Given the description of an element on the screen output the (x, y) to click on. 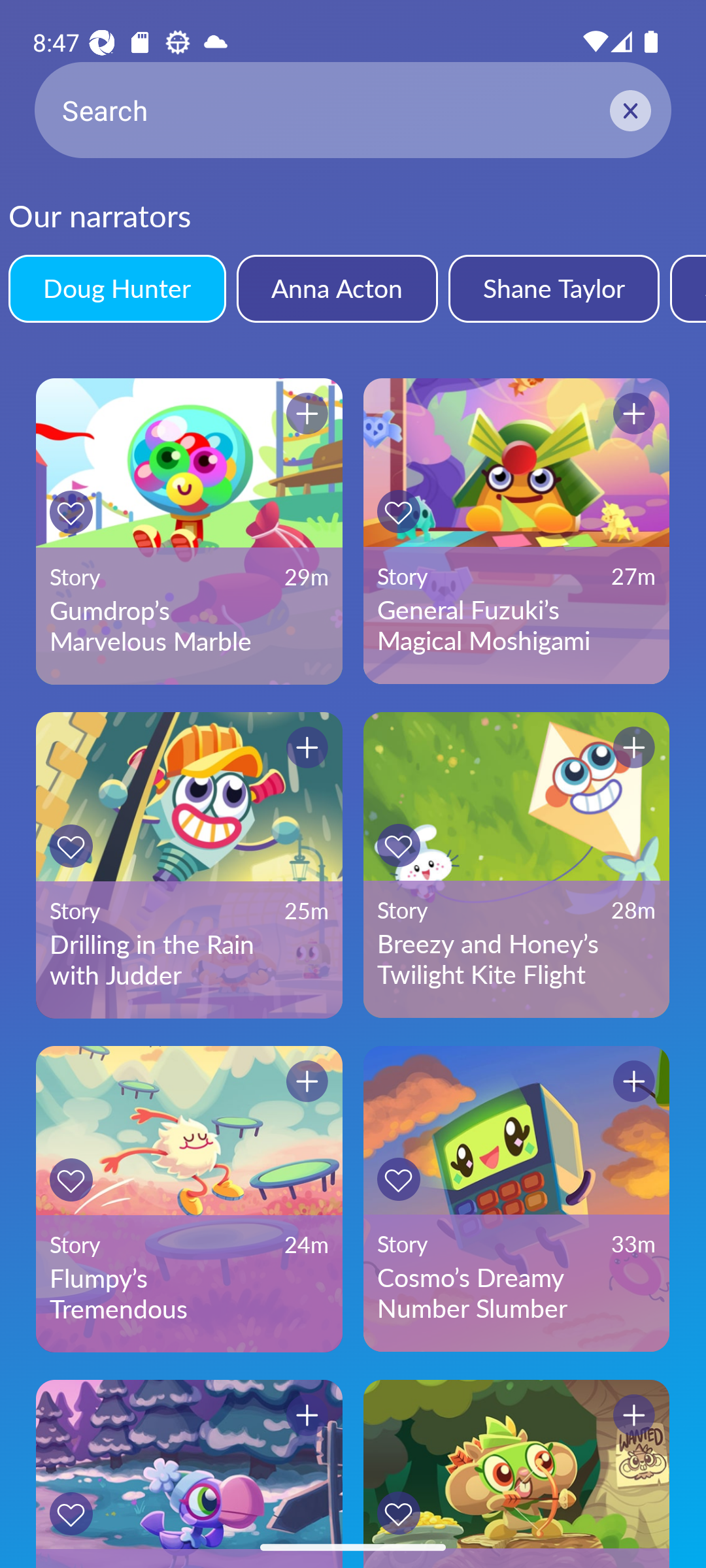
Search (352, 110)
Doug Hunter (116, 288)
Anna Acton (336, 288)
Shane Taylor (553, 288)
Button (307, 413)
Button (633, 413)
Button (398, 510)
Button (71, 511)
Button (307, 746)
Button (633, 746)
Button (398, 844)
Button (71, 845)
Button (307, 1080)
Button (633, 1080)
Button (398, 1178)
Button (71, 1179)
Button (307, 1414)
Button (633, 1414)
Featured Content Button Button Story 29m (189, 1473)
Featured Content Button Button Story 26m (516, 1473)
Button (398, 1512)
Button (71, 1513)
